Given the description of an element on the screen output the (x, y) to click on. 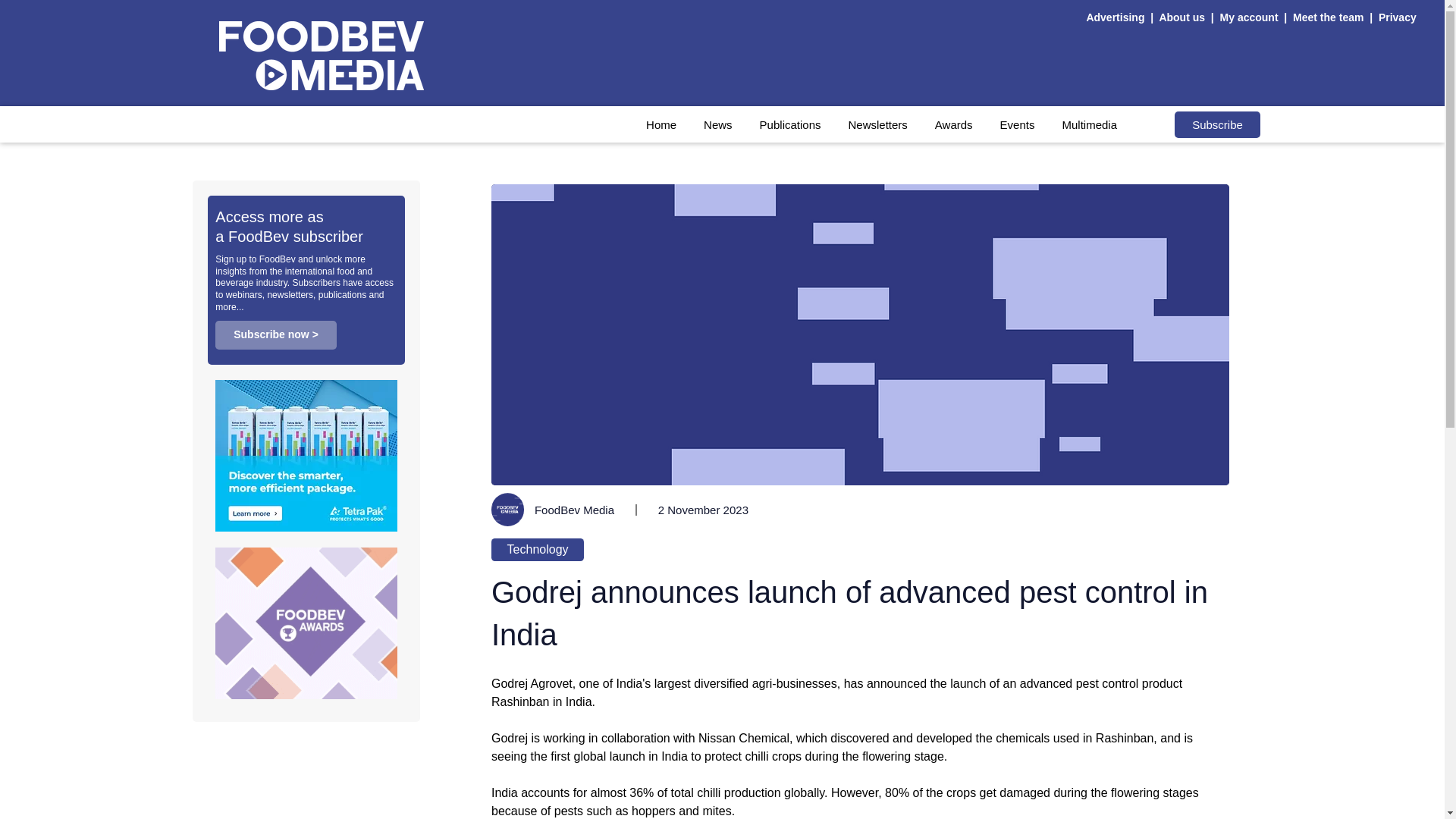
My account (1249, 17)
Advertising  (1118, 17)
Home (661, 124)
About us (1181, 17)
Meet the team   (1330, 17)
Privacy (1397, 17)
